Given the description of an element on the screen output the (x, y) to click on. 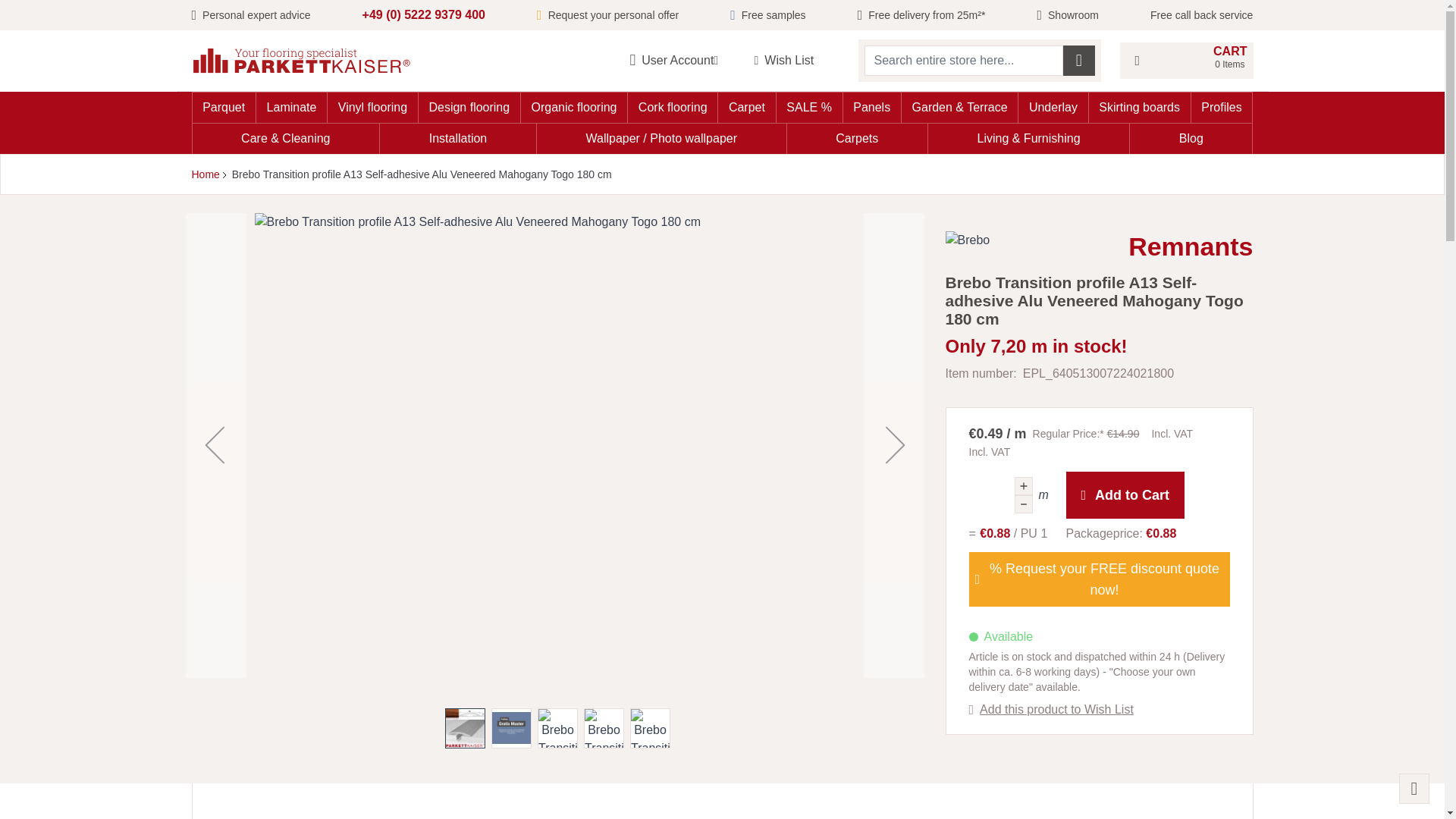
Free call back service (1201, 15)
Wish List (796, 60)
User Account (678, 60)
Personal expert advice (250, 15)
Free samples (1185, 60)
Request your personal offer (767, 15)
Showroom (607, 15)
